Given the description of an element on the screen output the (x, y) to click on. 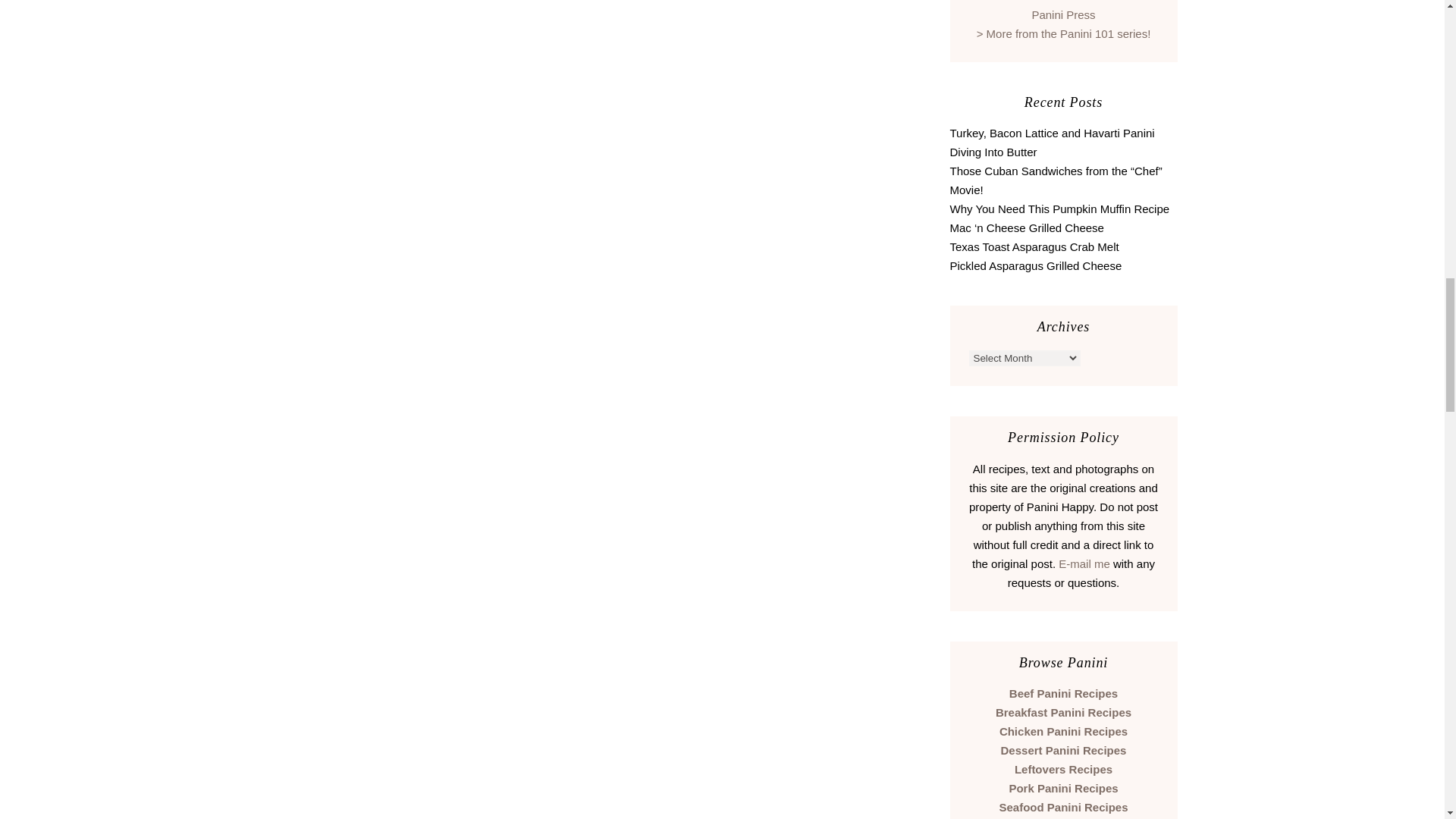
Why You Need This Pumpkin Muffin Recipe (1059, 208)
Pickled Asparagus Grilled Cheese (1035, 265)
Texas Toast Asparagus Crab Melt (1033, 246)
Diving Into Butter (992, 151)
Turkey, Bacon Lattice and Havarti Panini (1051, 132)
